Given the description of an element on the screen output the (x, y) to click on. 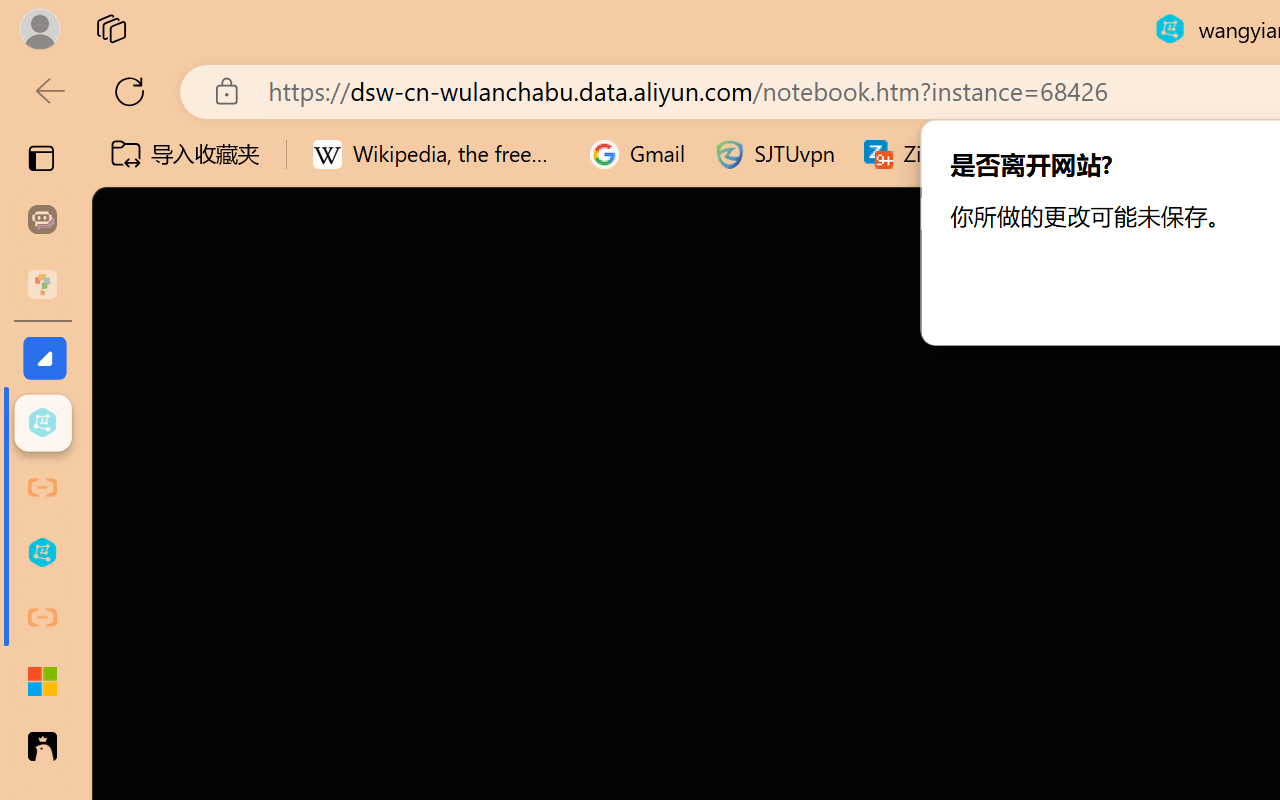
Fly In (359, 111)
